Given the description of an element on the screen output the (x, y) to click on. 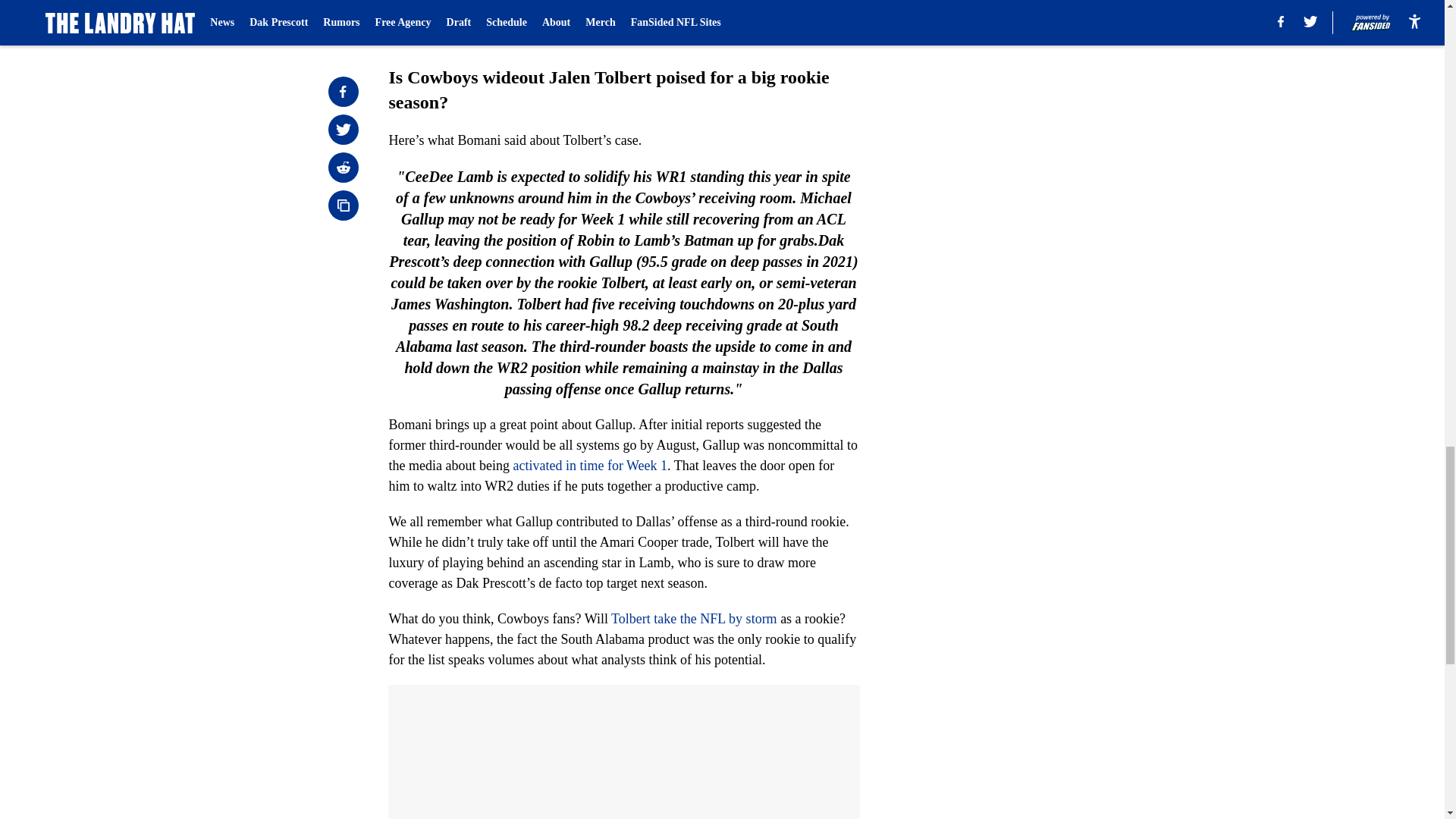
May 21, 2022 (534, 30)
Tolbert take the NFL by storm (694, 618)
activated in time for Week 1 (589, 465)
